Given the description of an element on the screen output the (x, y) to click on. 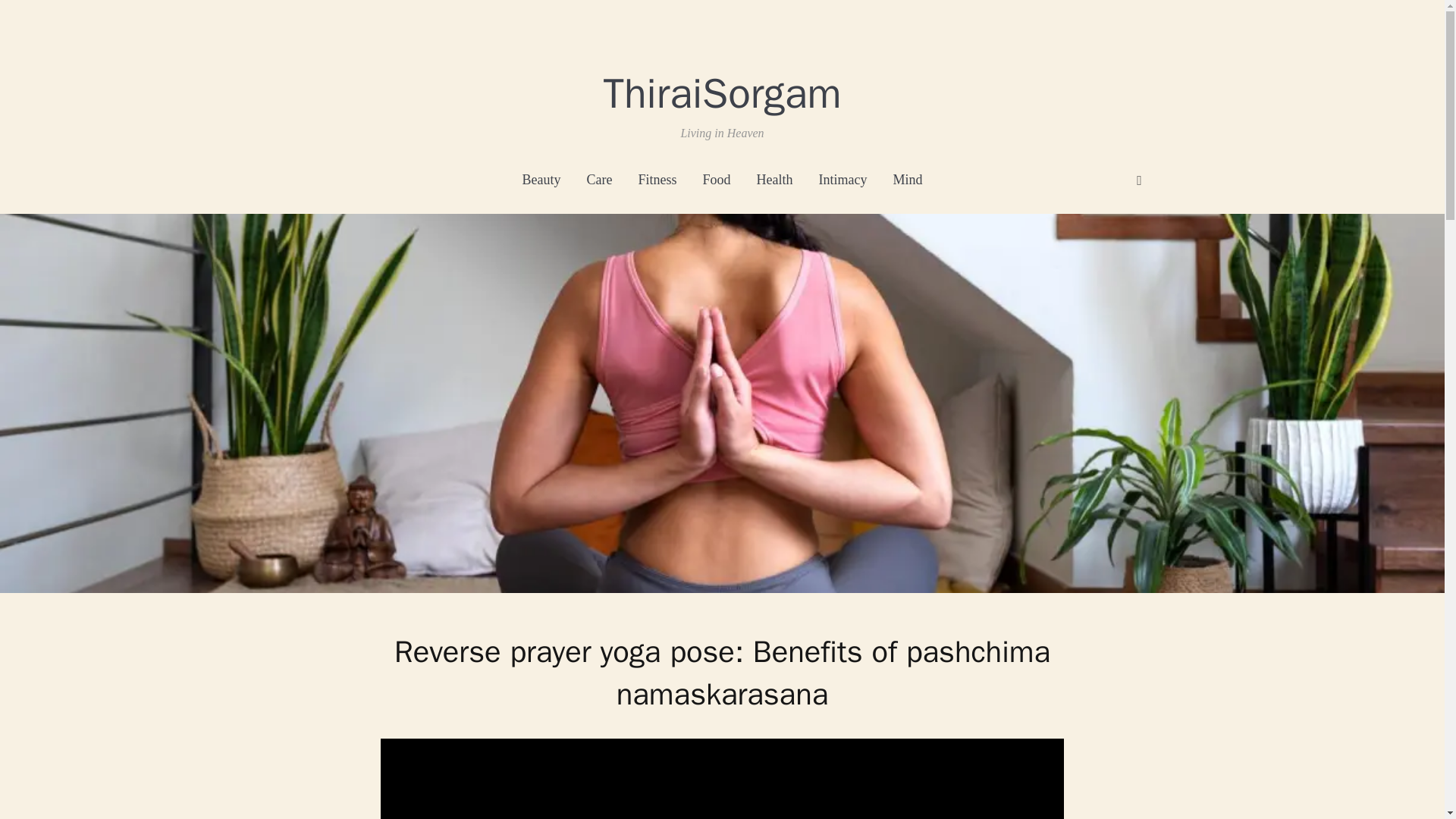
ThiraiSorgam (721, 93)
Health (775, 180)
Living in Heaven (721, 93)
Search (1139, 180)
Beauty (540, 180)
Fitness (657, 180)
Intimacy (842, 180)
